Given the description of an element on the screen output the (x, y) to click on. 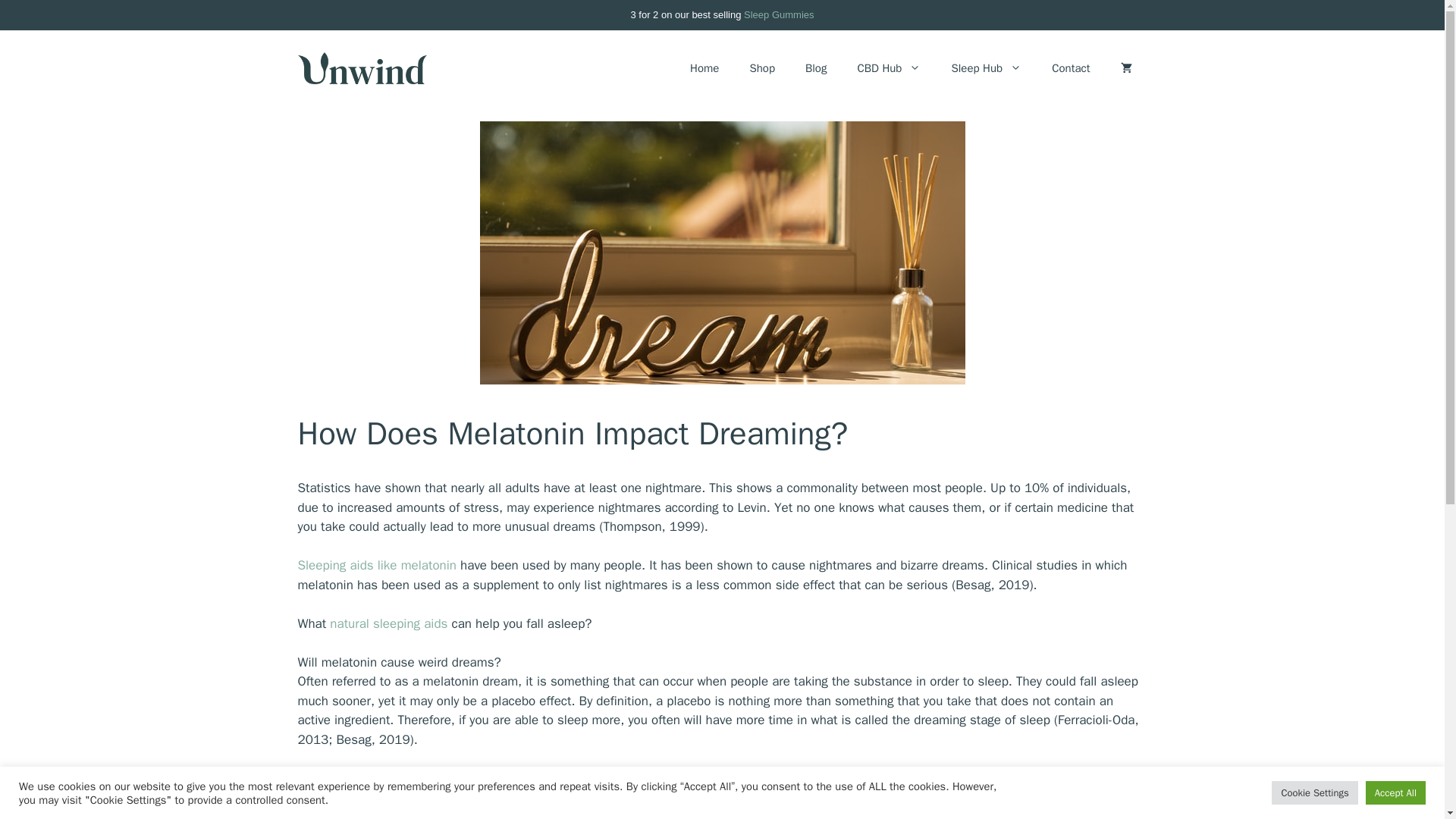
CBD Hub (888, 67)
Sleeping aids like melatonin  (378, 565)
Sleep Gummies (778, 14)
Contact (1070, 67)
Shop (761, 67)
Sleep Hub (986, 67)
Home (704, 67)
natural sleeping aids (388, 623)
View your shopping cart (1126, 67)
Blog (815, 67)
